Given the description of an element on the screen output the (x, y) to click on. 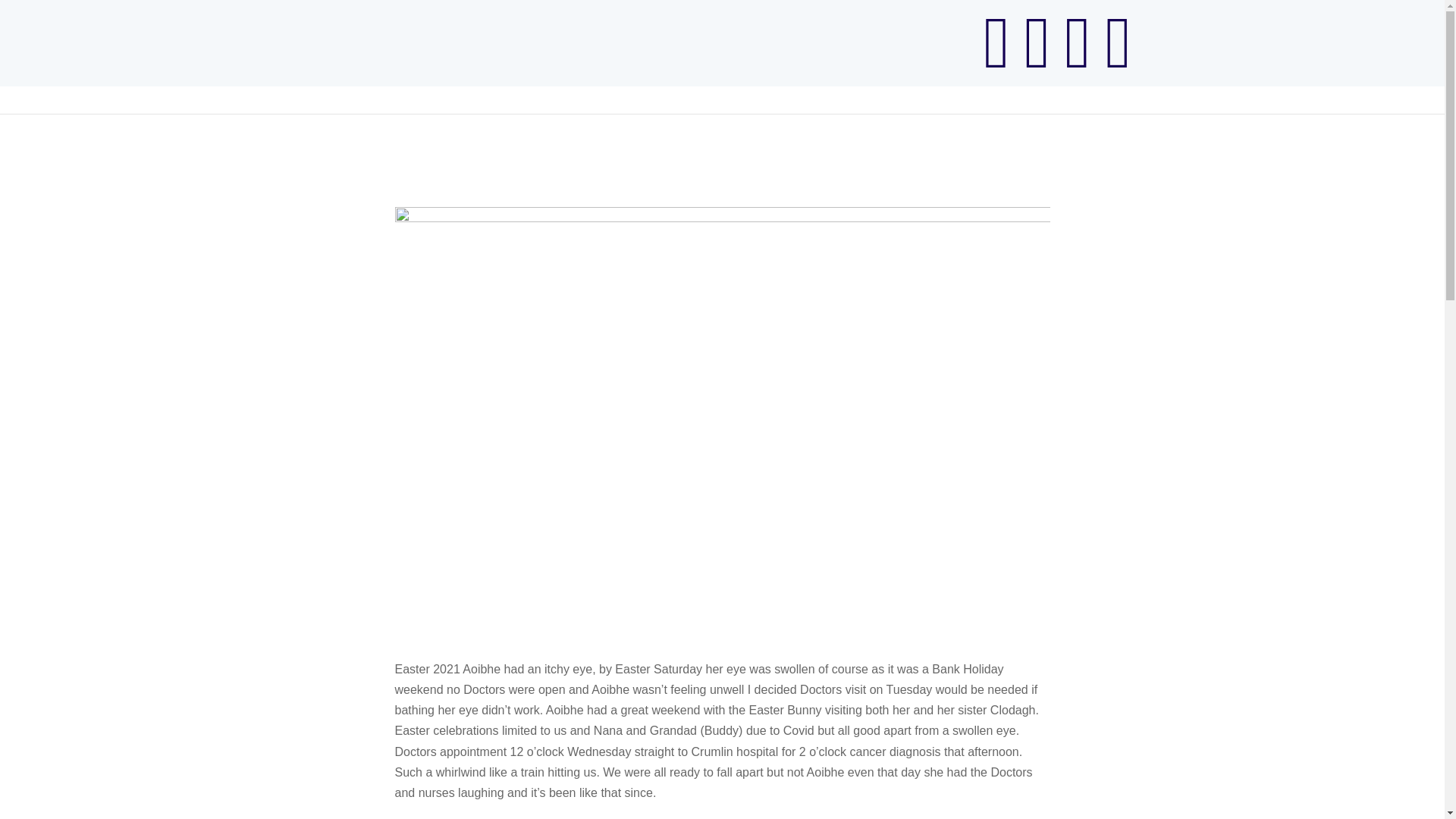
Our Heroes (1168, 88)
About (1092, 88)
Governance (1317, 88)
